Given the description of an element on the screen output the (x, y) to click on. 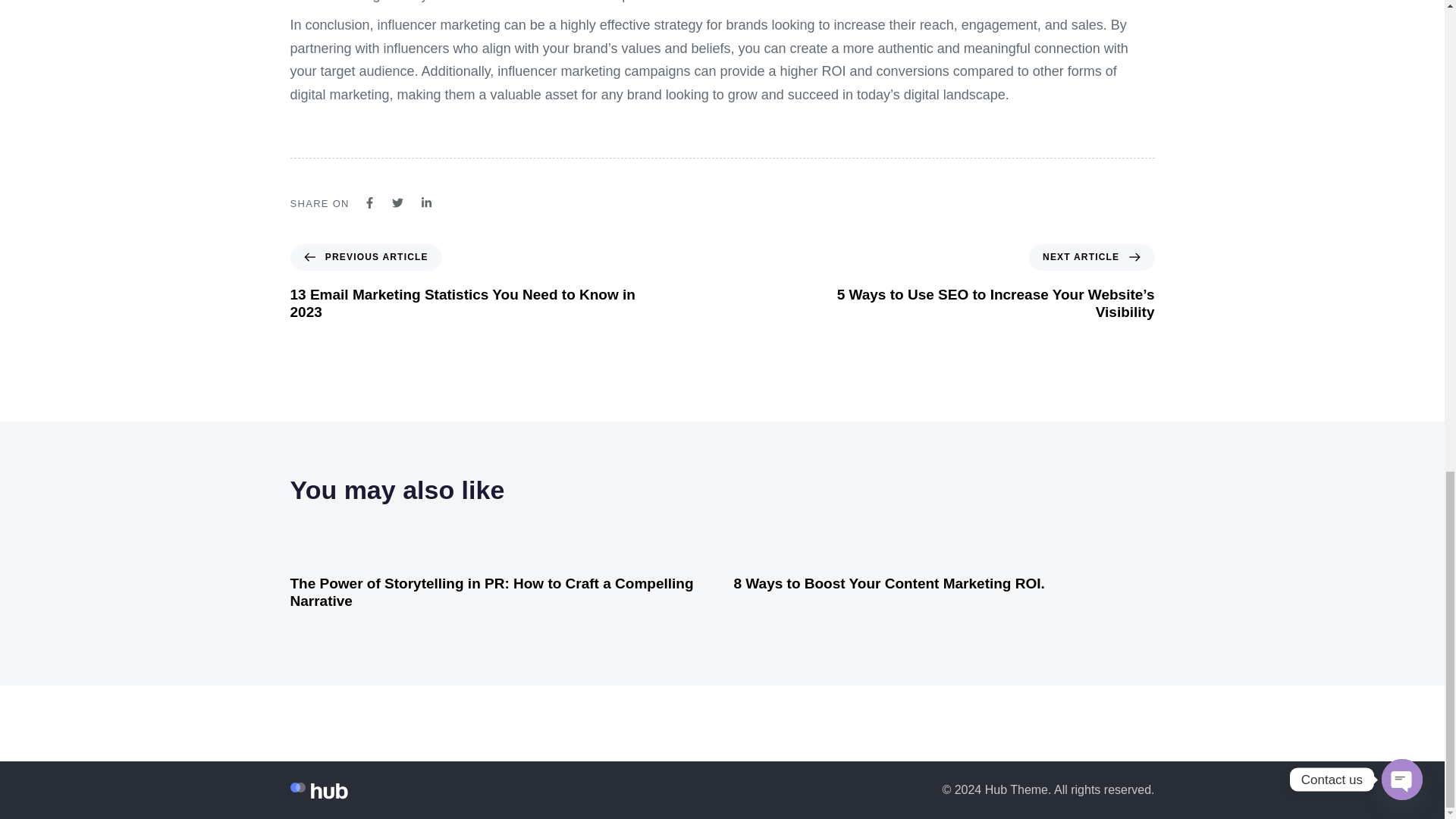
8 Ways to Boost Your Content Marketing ROI. (889, 583)
